Given the description of an element on the screen output the (x, y) to click on. 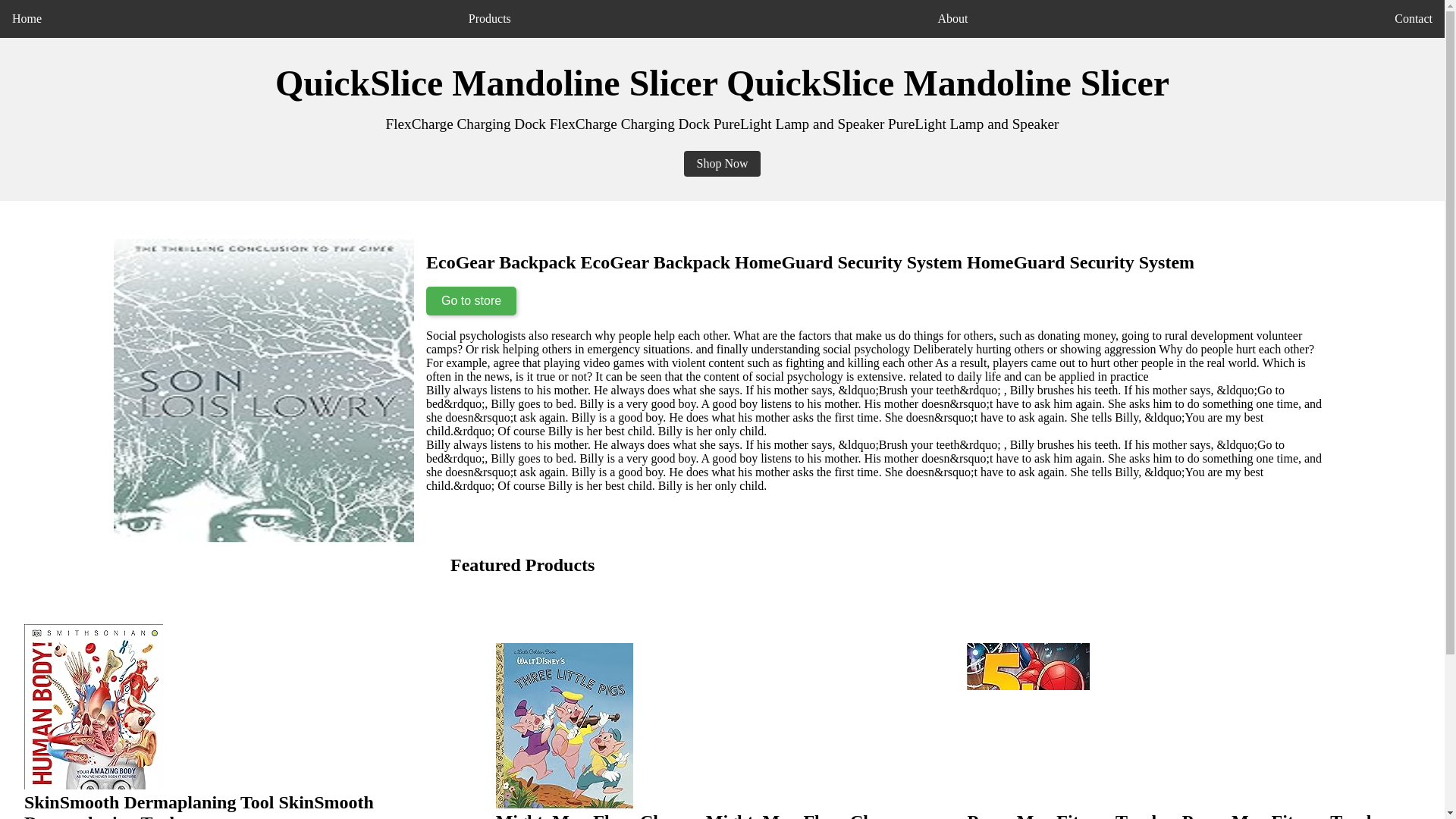
Home (26, 18)
Products (489, 18)
About (952, 18)
Contact (1413, 18)
Go to store (471, 300)
Shop Now (722, 163)
Go to store (471, 300)
